Given the description of an element on the screen output the (x, y) to click on. 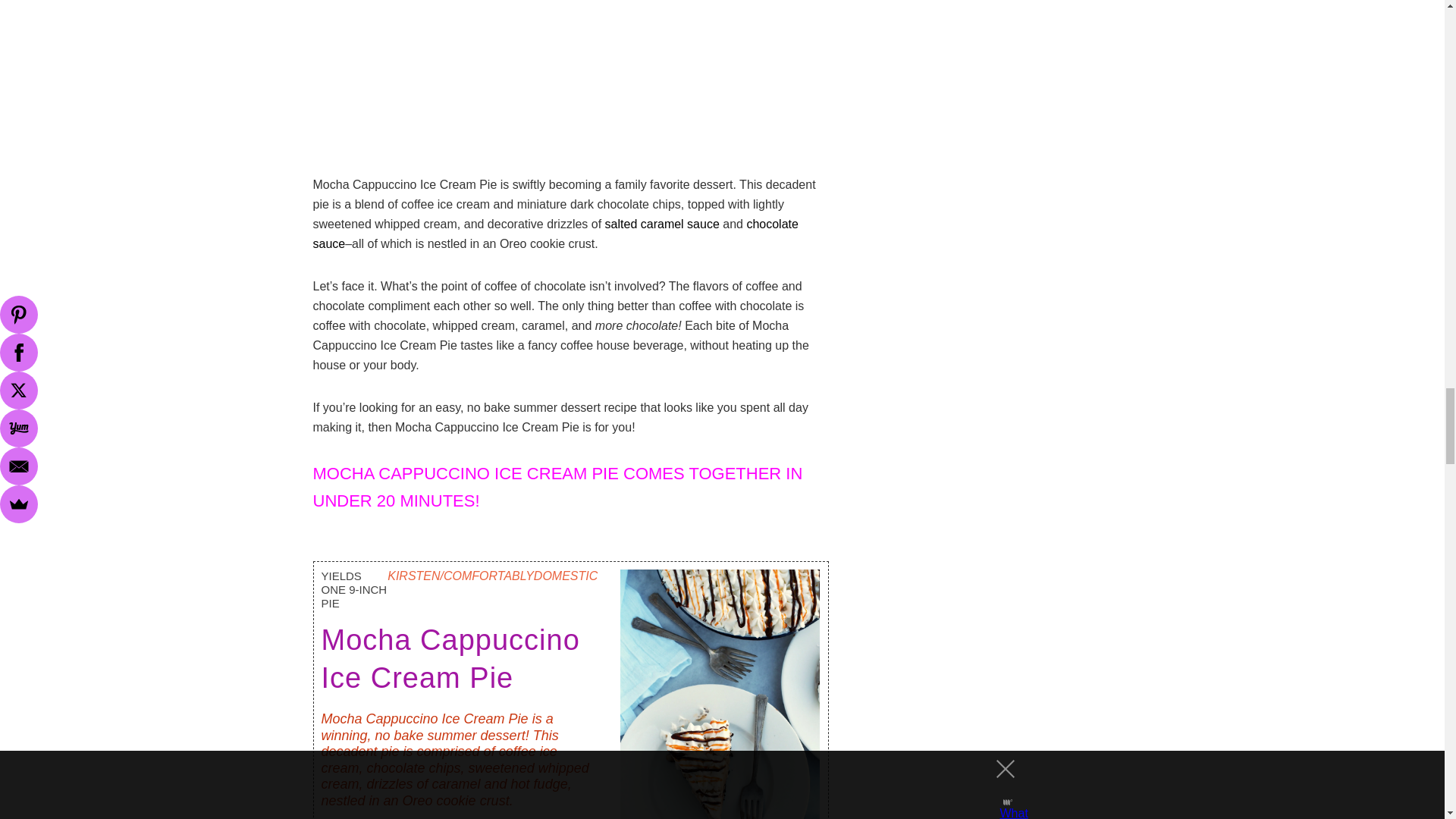
salted caramel sauce (662, 223)
chocolate sauce (555, 233)
